Given the description of an element on the screen output the (x, y) to click on. 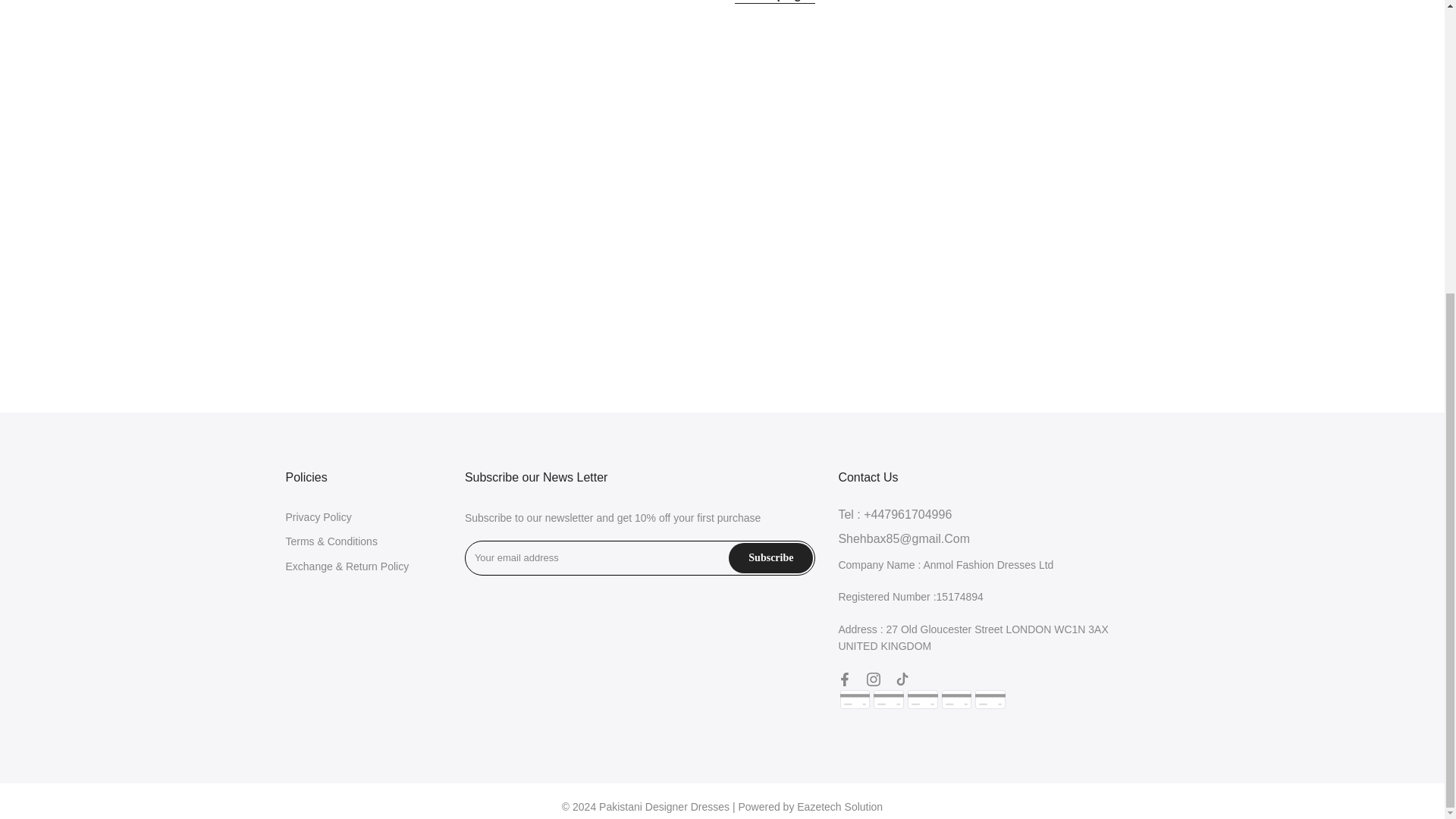
Subscribe (770, 557)
Privacy Policy (317, 517)
homepage (775, 2)
